Given the description of an element on the screen output the (x, y) to click on. 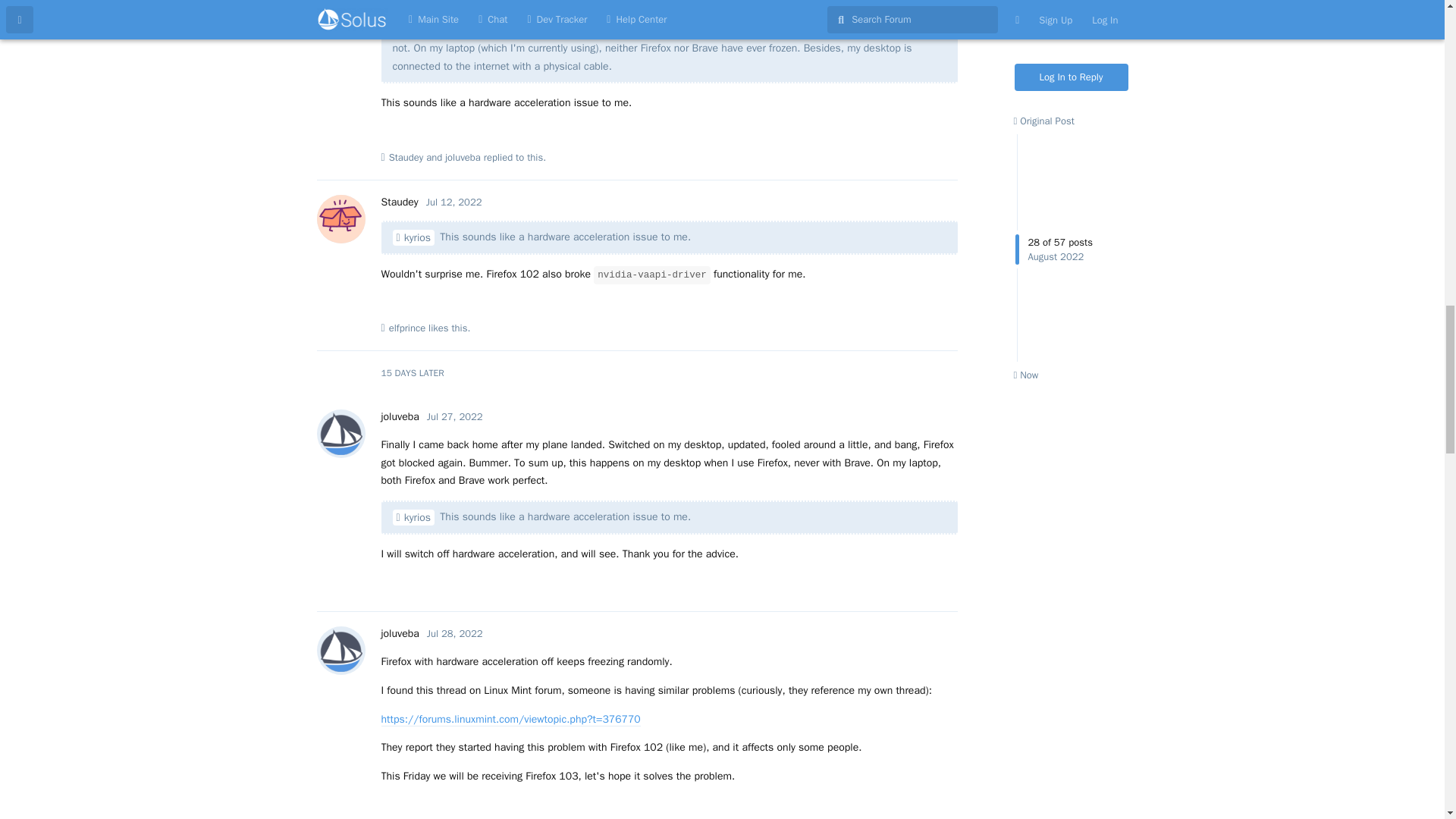
Tuesday, July 12, 2022 1:54 AM (453, 201)
Thursday, July 28, 2022 2:44 PM (454, 633)
Monday, July 11, 2022 8:49 PM (442, 0)
Wednesday, July 27, 2022 6:23 AM (454, 416)
